Given the description of an element on the screen output the (x, y) to click on. 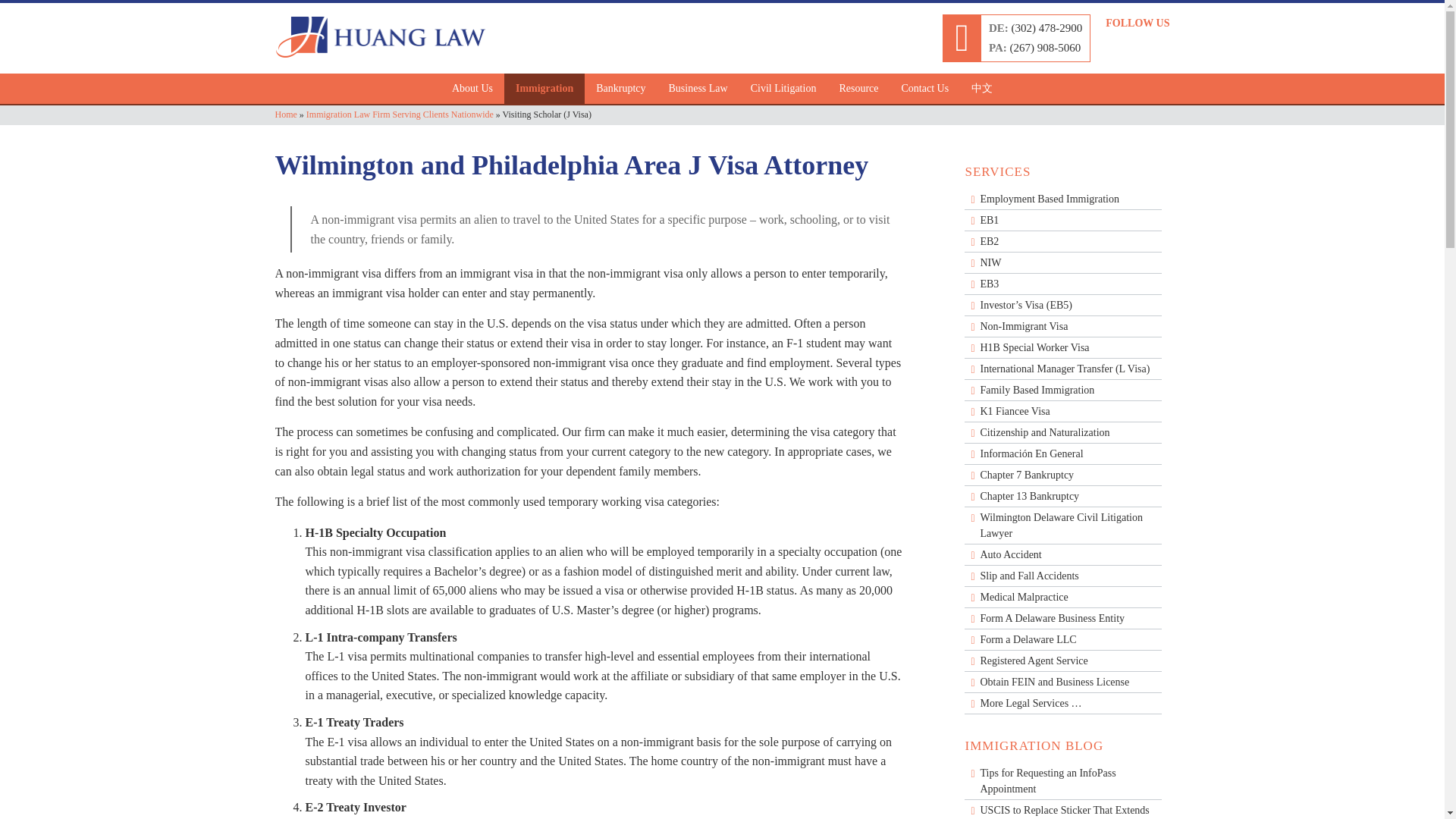
Immigration (544, 88)
Business Law (697, 88)
Bankruptcy (620, 88)
About Us (472, 88)
